Given the description of an element on the screen output the (x, y) to click on. 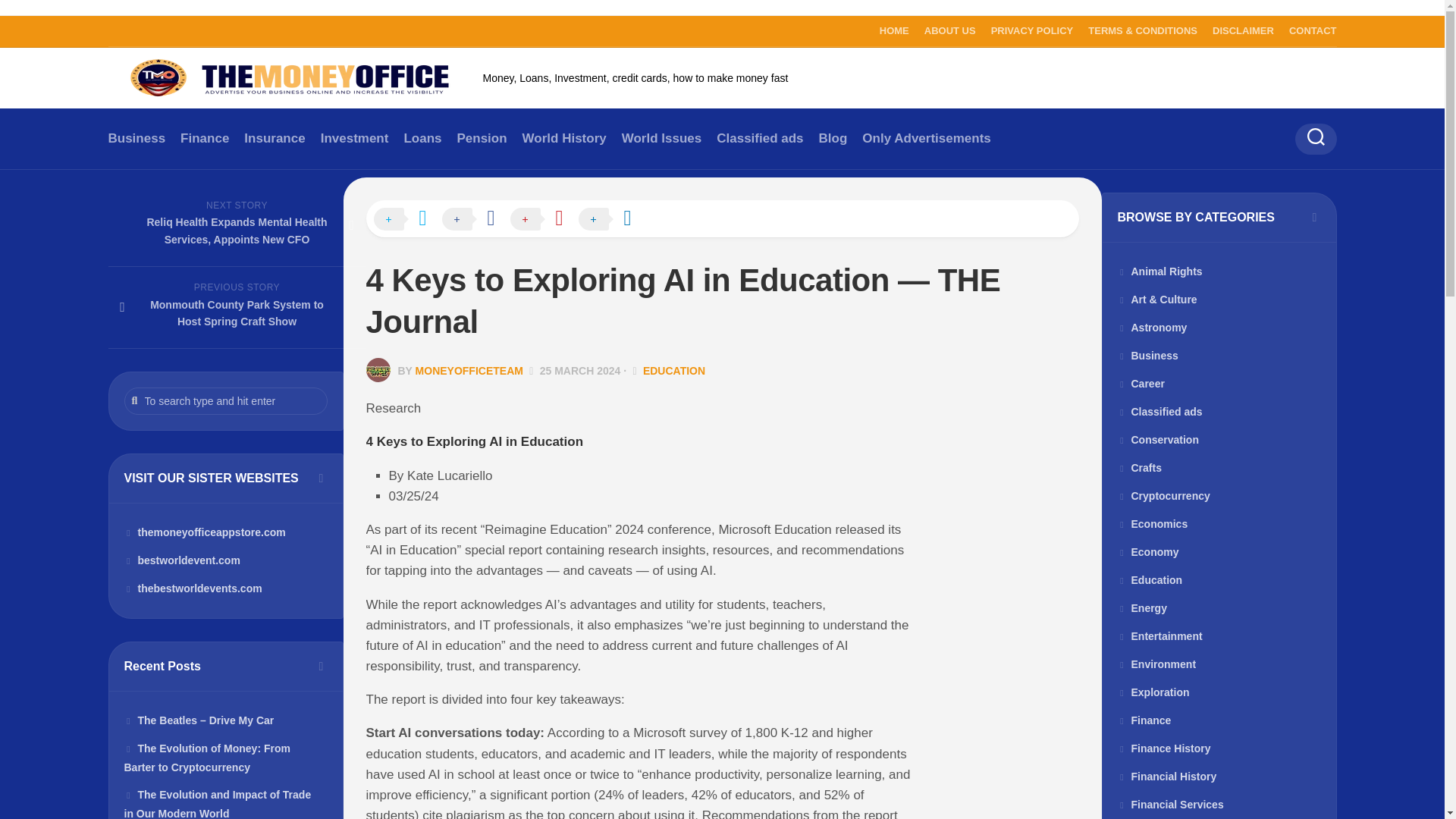
Investment (354, 138)
Only Advertisements (925, 138)
Blog (832, 138)
HOME (893, 30)
PRIVACY POLICY (1032, 30)
Share on Pinterest (543, 219)
Finance (204, 138)
To search type and hit enter (225, 400)
DISCLAIMER (1243, 30)
Insurance (274, 138)
